Given the description of an element on the screen output the (x, y) to click on. 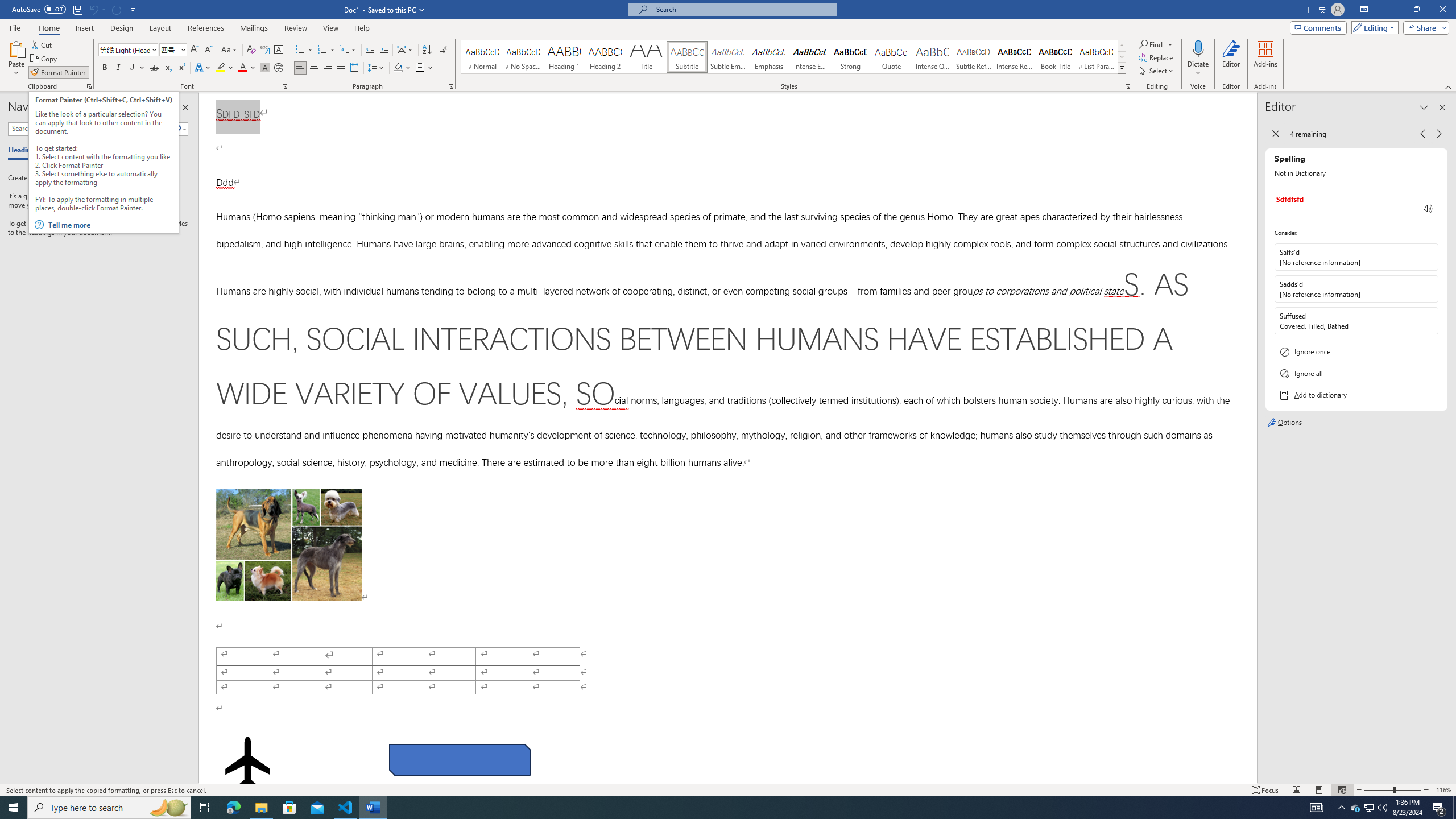
Bullets (304, 49)
Can't Undo (96, 9)
Format Painter (58, 72)
System (6, 6)
Intense Reference (1014, 56)
